Given the description of an element on the screen output the (x, y) to click on. 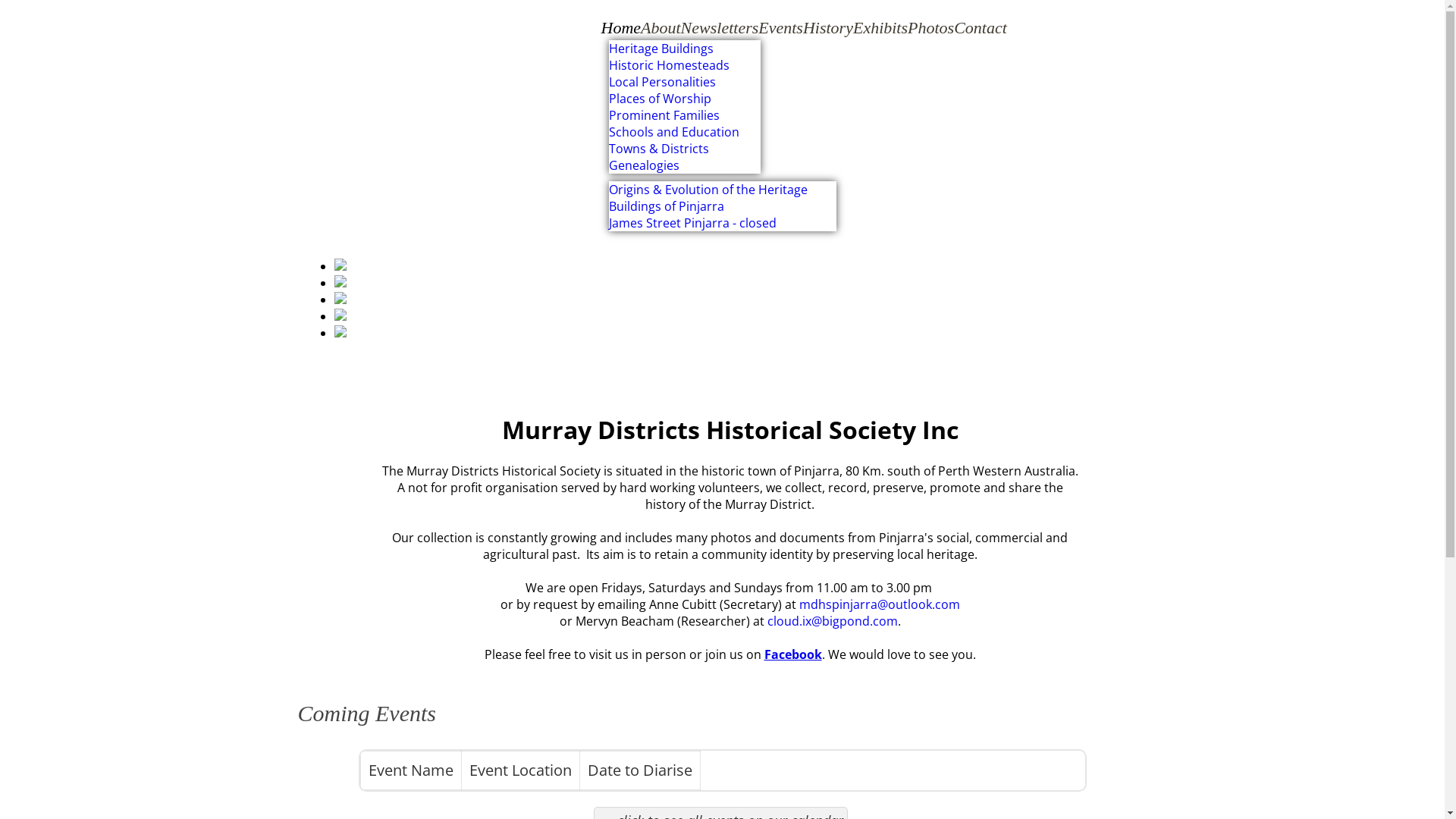
mdhspinjarra@outlook.com Element type: text (879, 604)
Local Personalities Element type: text (661, 81)
Genealogies Element type: text (643, 164)
Newsletters Element type: text (719, 27)
James Street Pinjarra - closed Element type: text (691, 222)
Prominent Families Element type: text (663, 114)
cloud.ix@bigpond.com Element type: text (832, 620)
Towns & Districts Element type: text (658, 148)
Schools and Education Element type: text (673, 131)
Contact Element type: text (980, 27)
About Element type: text (660, 27)
Home Element type: text (620, 27)
Origins & Evolution of the Heritage Buildings of Pinjarra Element type: text (707, 197)
Events Element type: text (780, 27)
Photos Element type: text (930, 27)
Heritage Buildings Element type: text (660, 48)
Historic Homesteads Element type: text (668, 64)
History Element type: text (828, 27)
Places of Worship Element type: text (659, 98)
Exhibits Element type: text (880, 27)
Facebook Element type: text (793, 654)
